Given the description of an element on the screen output the (x, y) to click on. 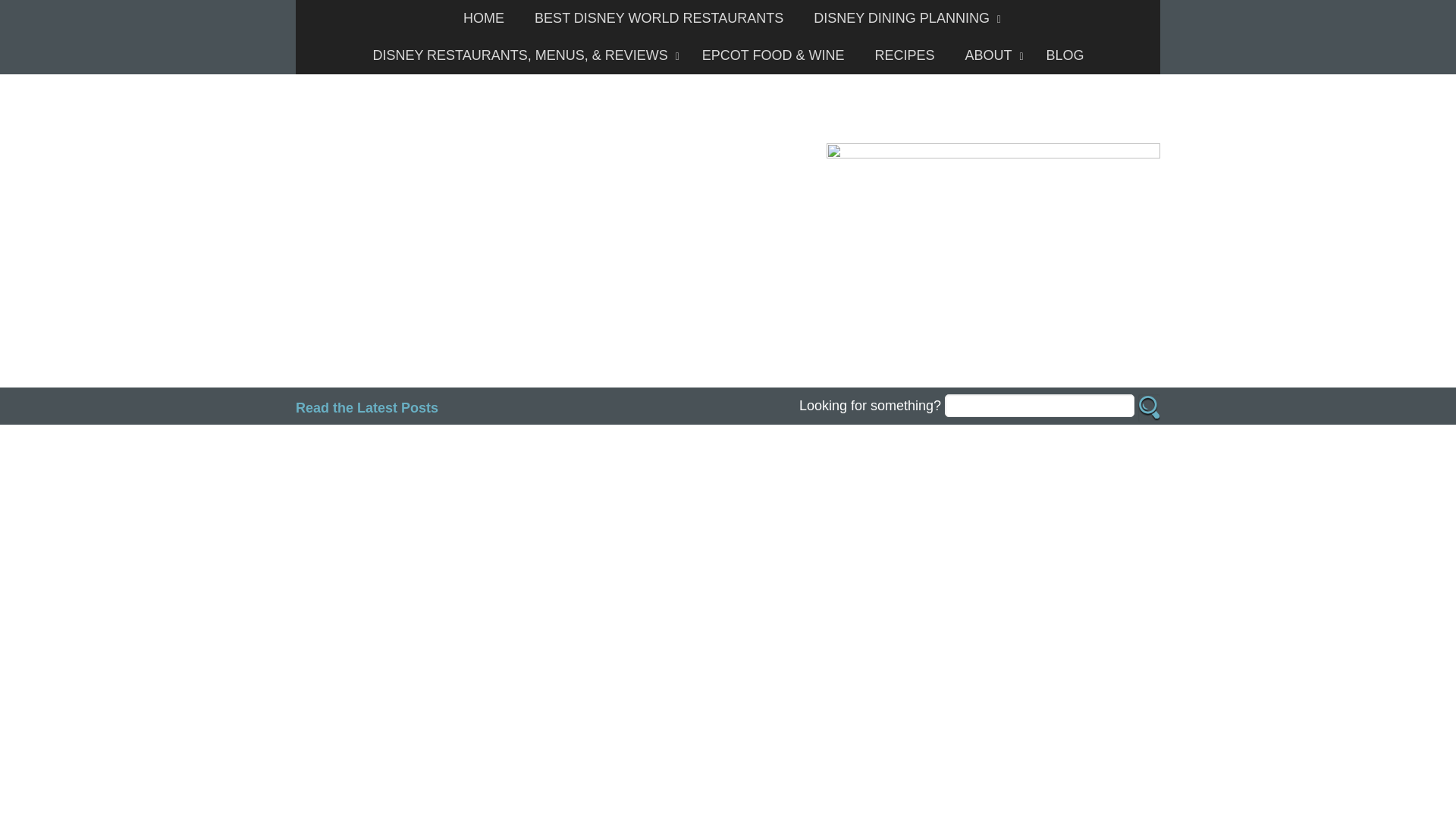
HOME (483, 18)
BEST DISNEY WORLD RESTAURANTS (658, 18)
DISNEY DINING PLANNING (903, 18)
